Given the description of an element on the screen output the (x, y) to click on. 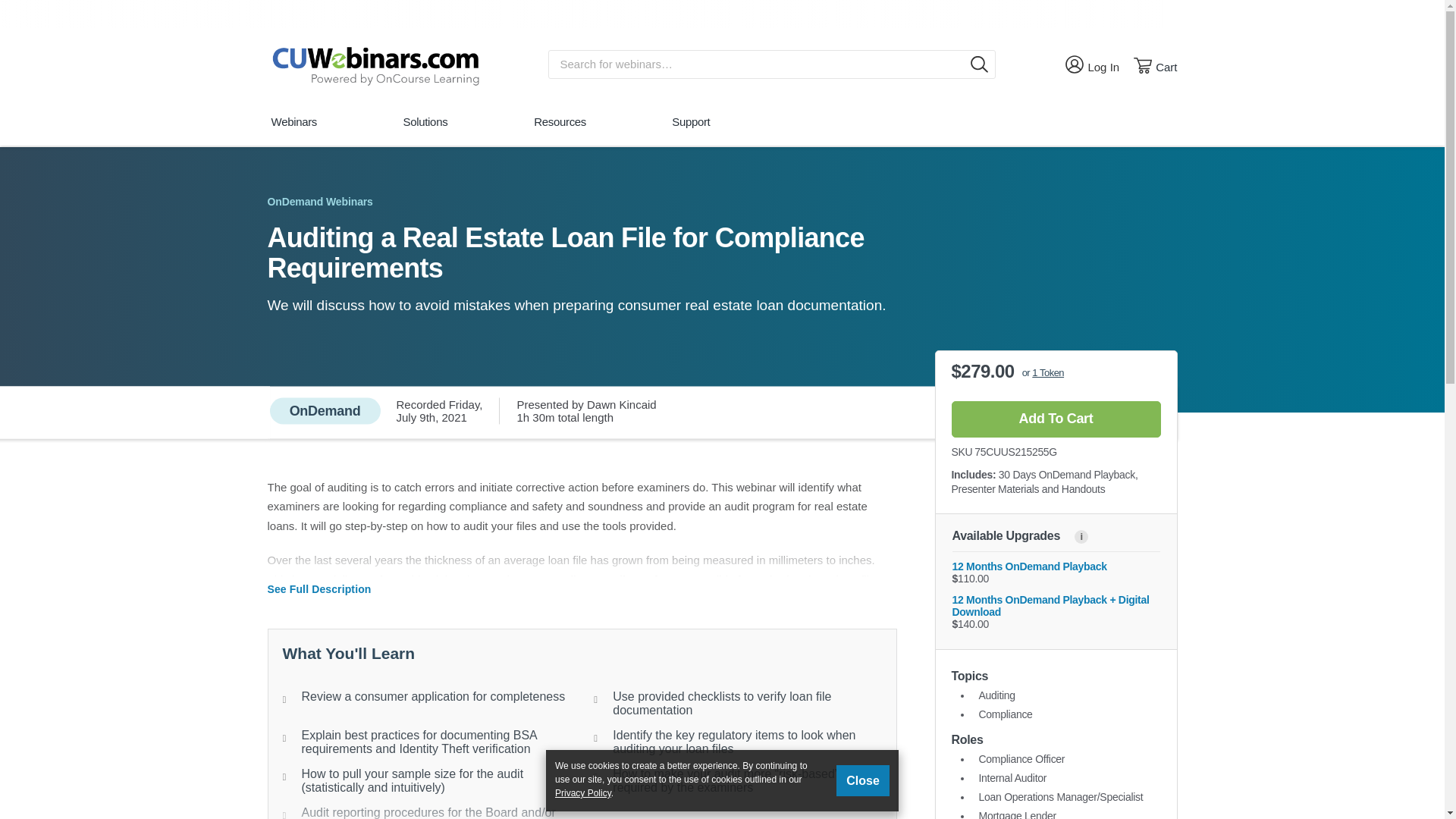
Log In (1092, 64)
Support (690, 128)
Search (979, 64)
Resources (560, 128)
Solutions (424, 128)
CUWebinars (373, 64)
Webinars (1155, 65)
